Given the description of an element on the screen output the (x, y) to click on. 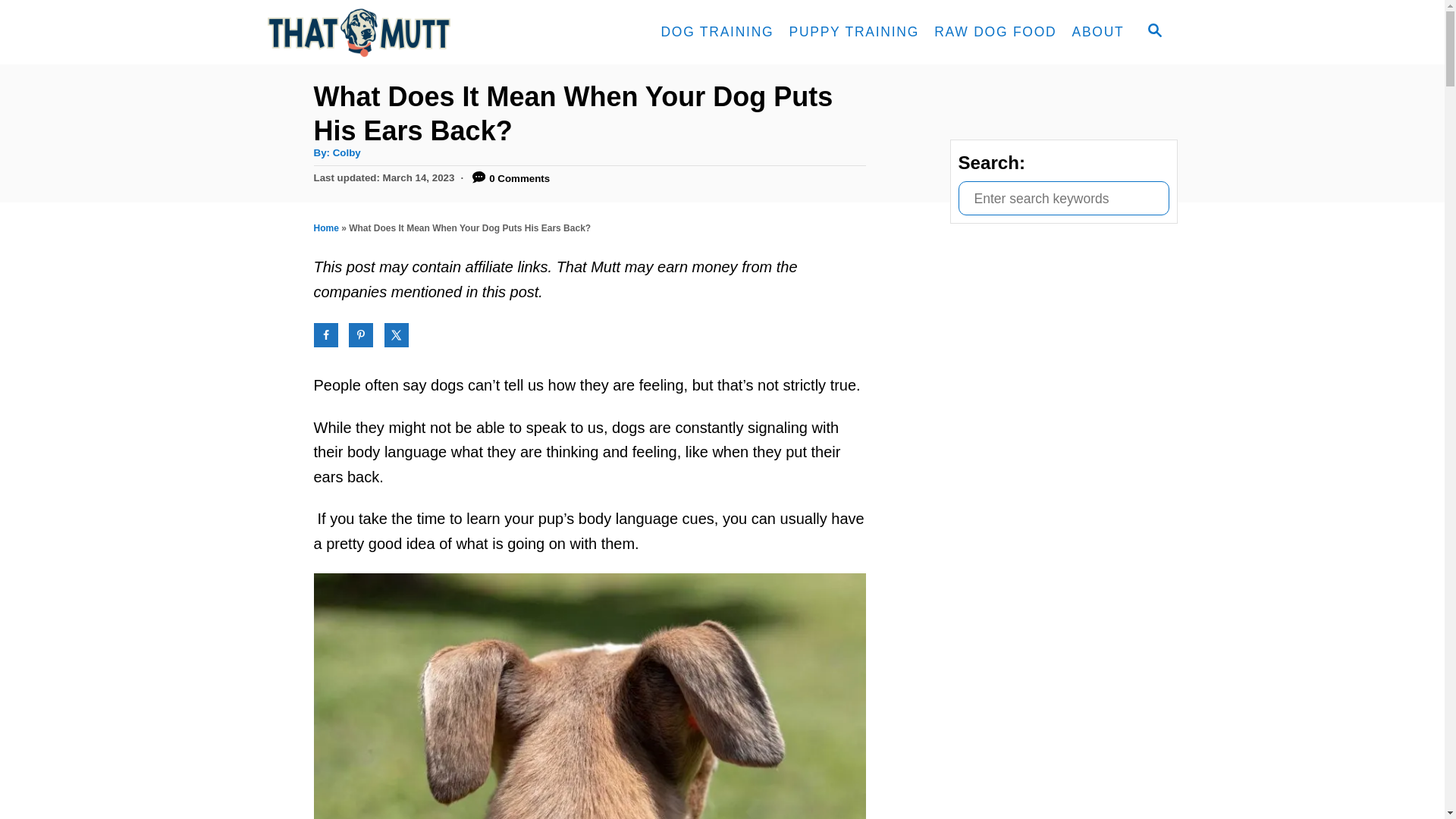
Home (326, 227)
SEARCH (1153, 31)
Save to Pinterest (360, 334)
ThatMutt.com (403, 32)
Share on X (396, 334)
ABOUT (1097, 32)
Search for: (1063, 197)
DOG TRAINING (716, 32)
Share on Facebook (325, 334)
Colby (347, 152)
RAW DOG FOOD (995, 32)
Search (22, 22)
PUPPY TRAINING (853, 32)
